Given the description of an element on the screen output the (x, y) to click on. 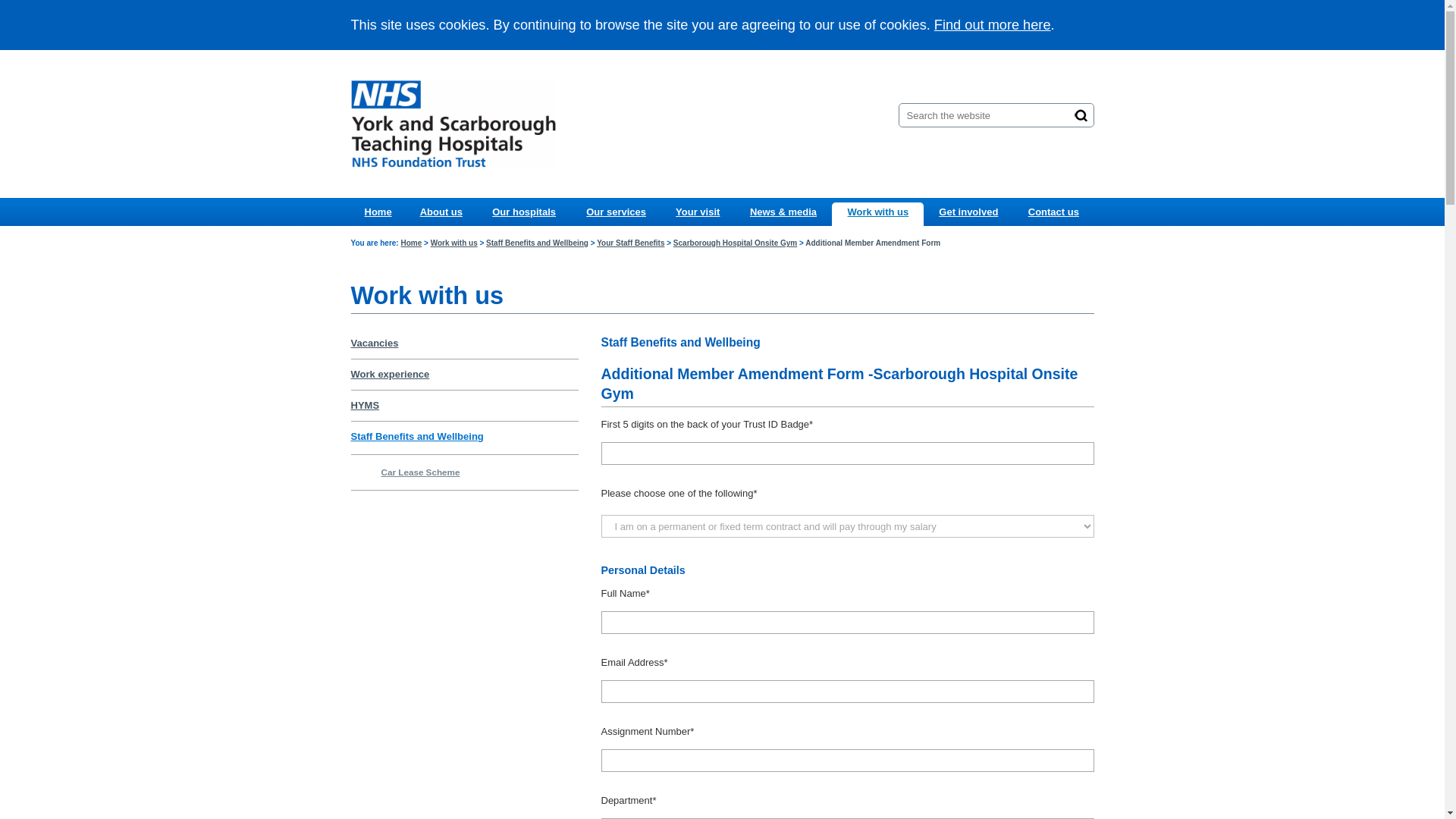
Search (1080, 115)
Staff Benefits and Wellbeing (537, 243)
Contact us (1053, 212)
HYMS (364, 405)
Work experience (389, 374)
Search (1080, 115)
Scarborough Hospital Onsite Gym (734, 243)
Your visit (697, 212)
Home (377, 212)
Our services (615, 212)
Our hospitals (523, 212)
Home (411, 243)
Get involved (968, 212)
Your Staff Benefits (629, 243)
Find out more here (992, 24)
